Given the description of an element on the screen output the (x, y) to click on. 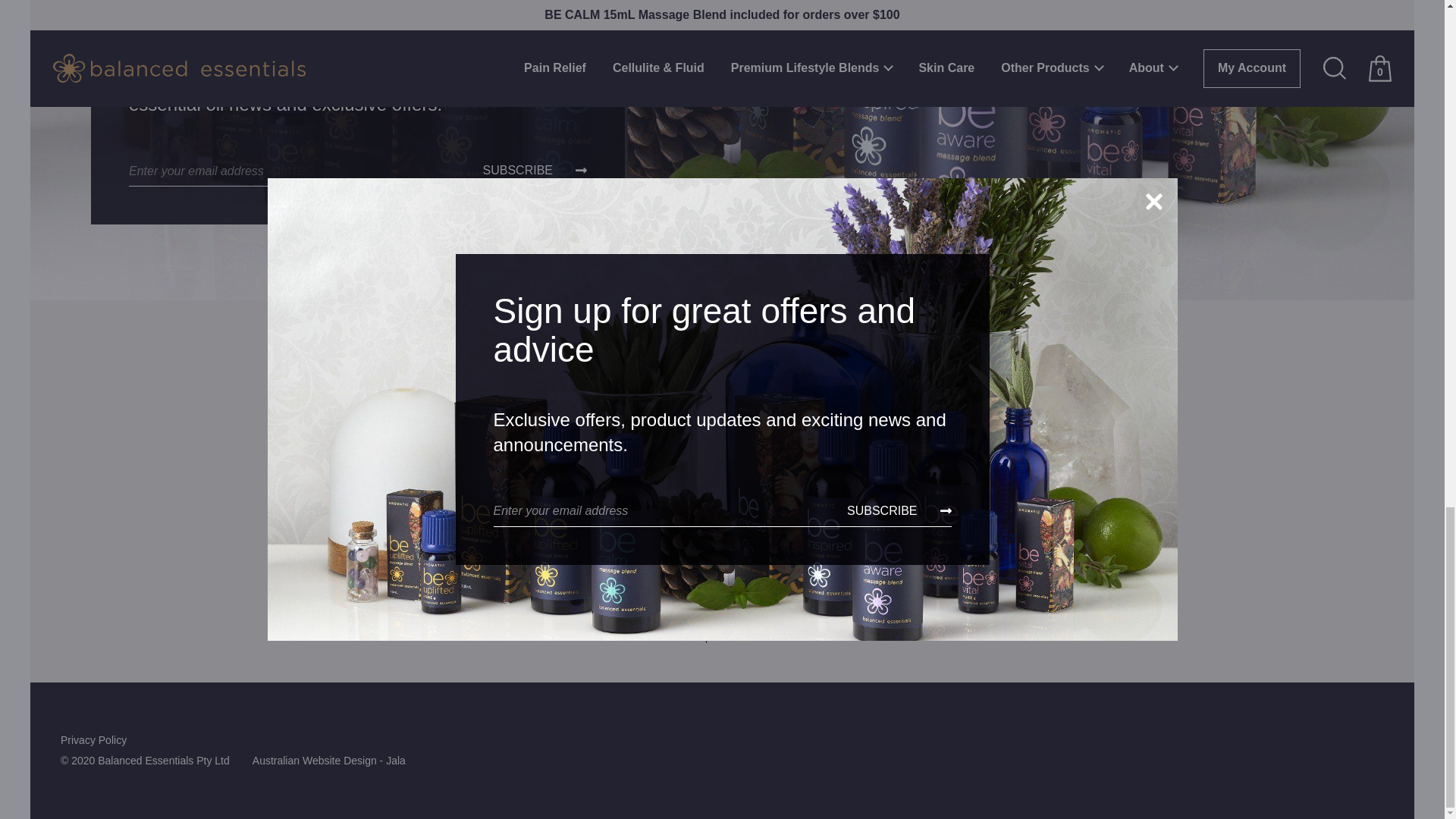
SUBSCRIBE (534, 170)
Pain Relief (816, 382)
